Given the description of an element on the screen output the (x, y) to click on. 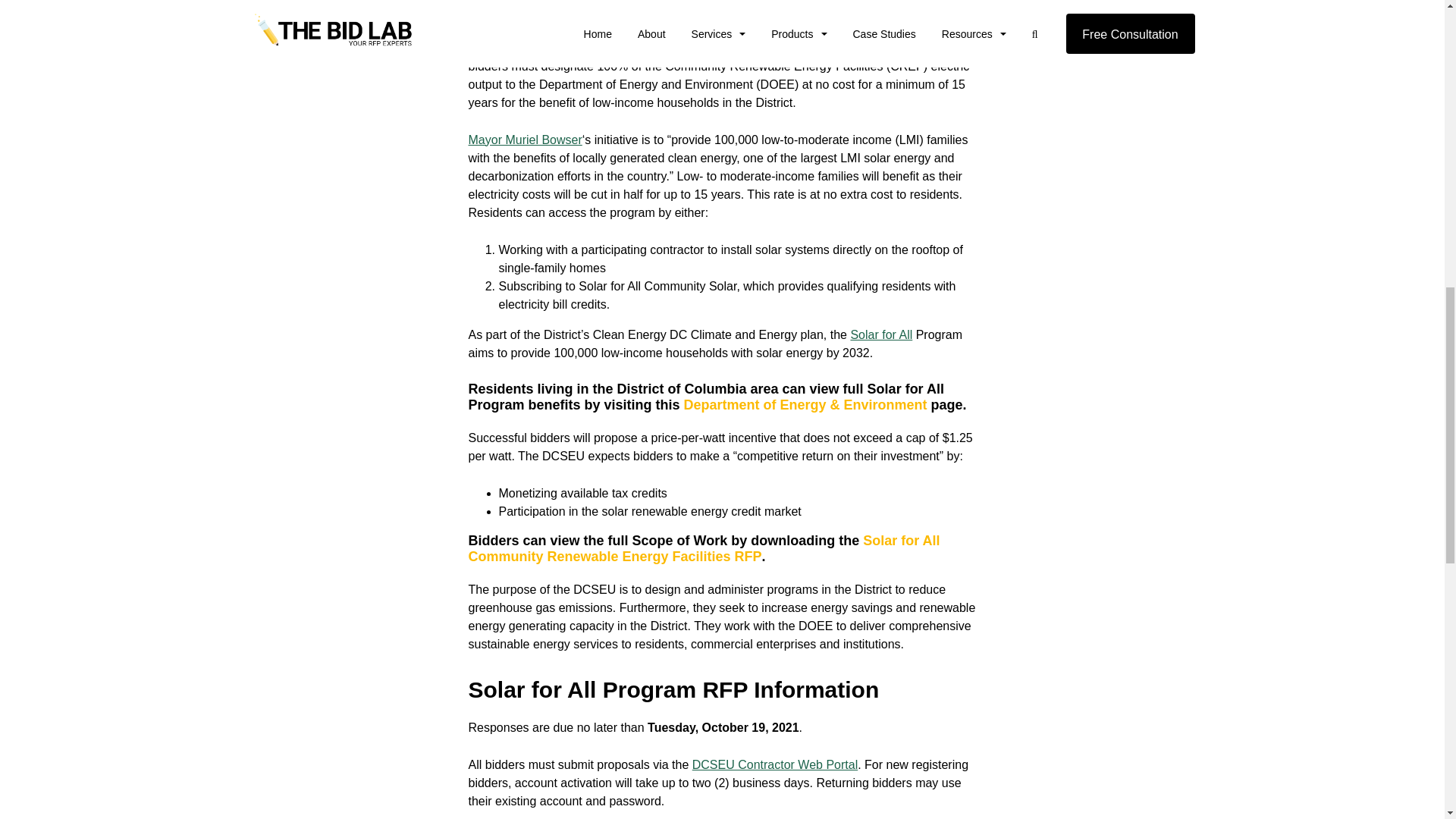
DCSEU Contractor Web Portal (775, 764)
Solar for All Community Renewable Energy Facilities RFP (704, 549)
Solar for All (881, 334)
Mayor Muriel Bowser (525, 139)
